Given the description of an element on the screen output the (x, y) to click on. 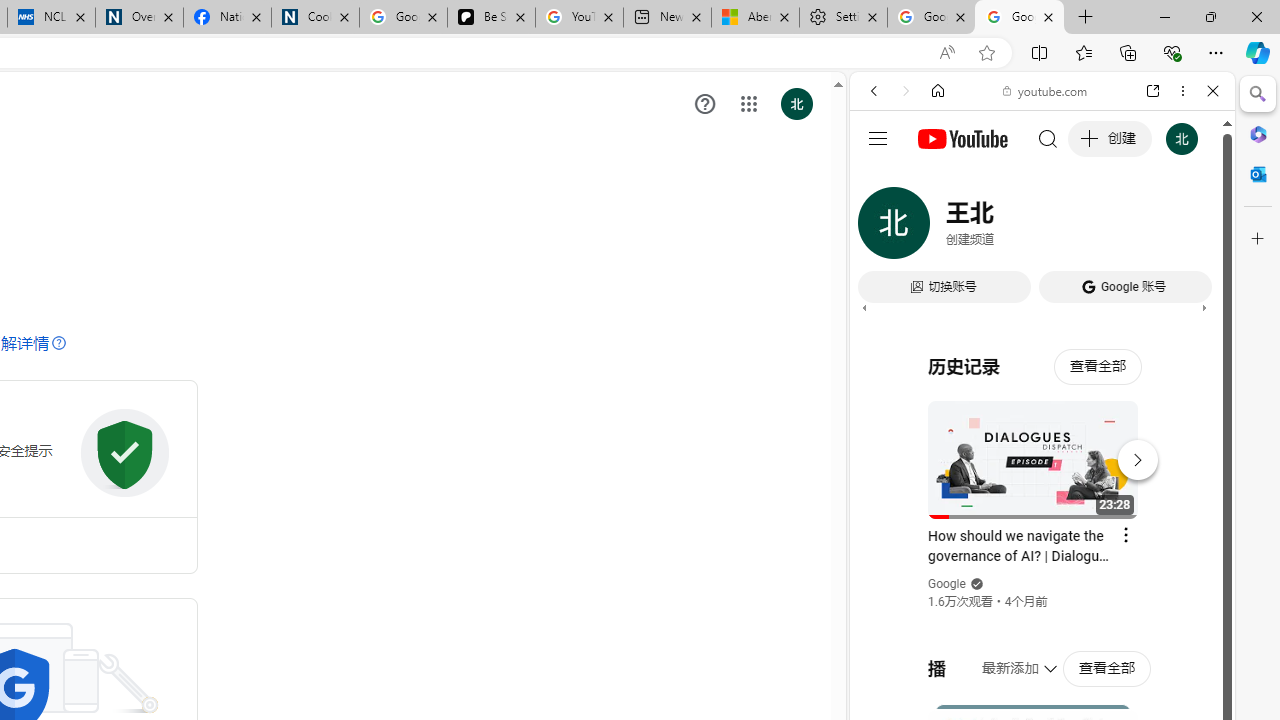
Trailer #2 [HD] (1042, 594)
